Given the description of an element on the screen output the (x, y) to click on. 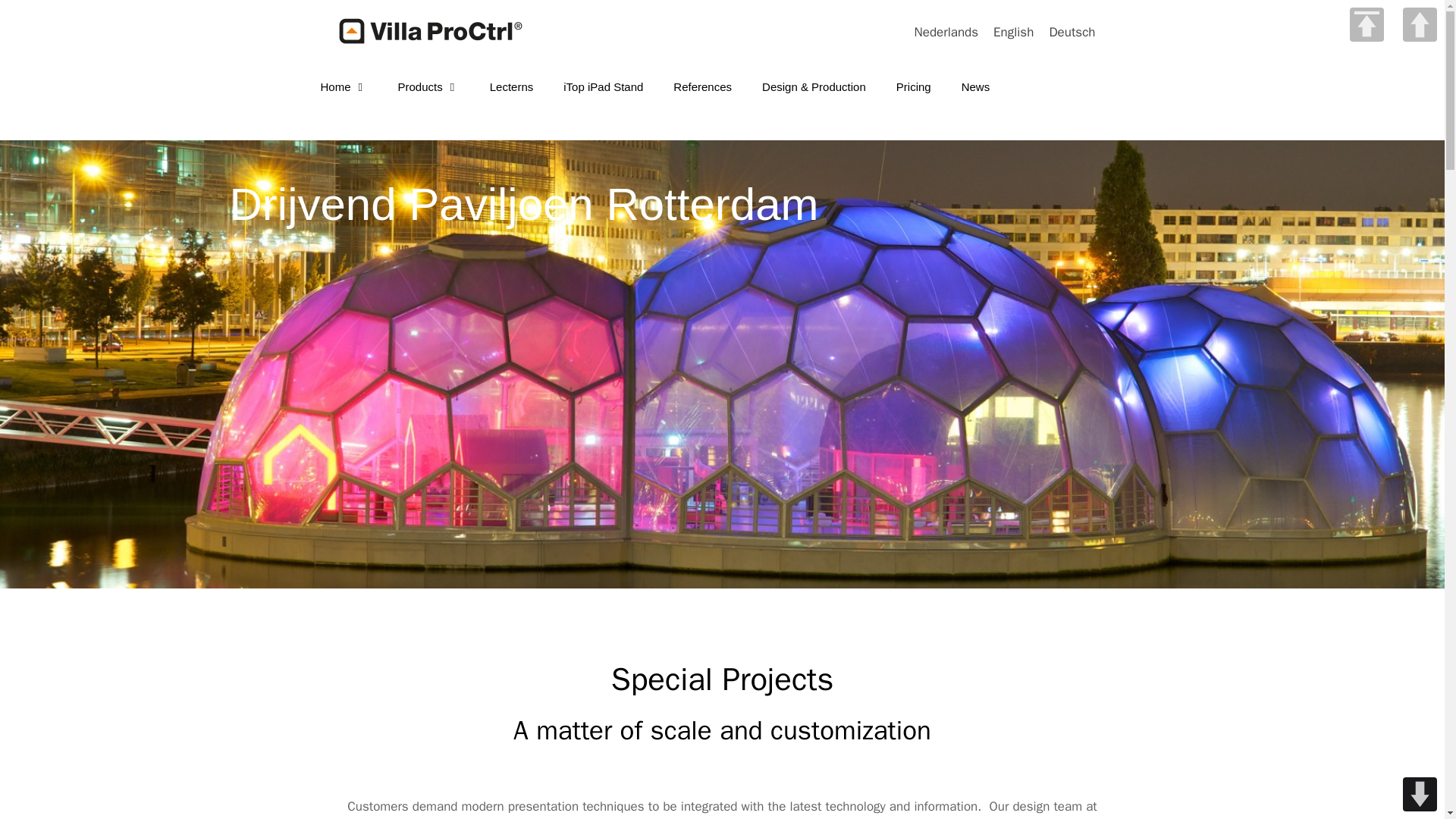
Deutsch (1071, 32)
Products (428, 86)
English (1013, 32)
Nederlands (947, 32)
Home (342, 86)
